Given the description of an element on the screen output the (x, y) to click on. 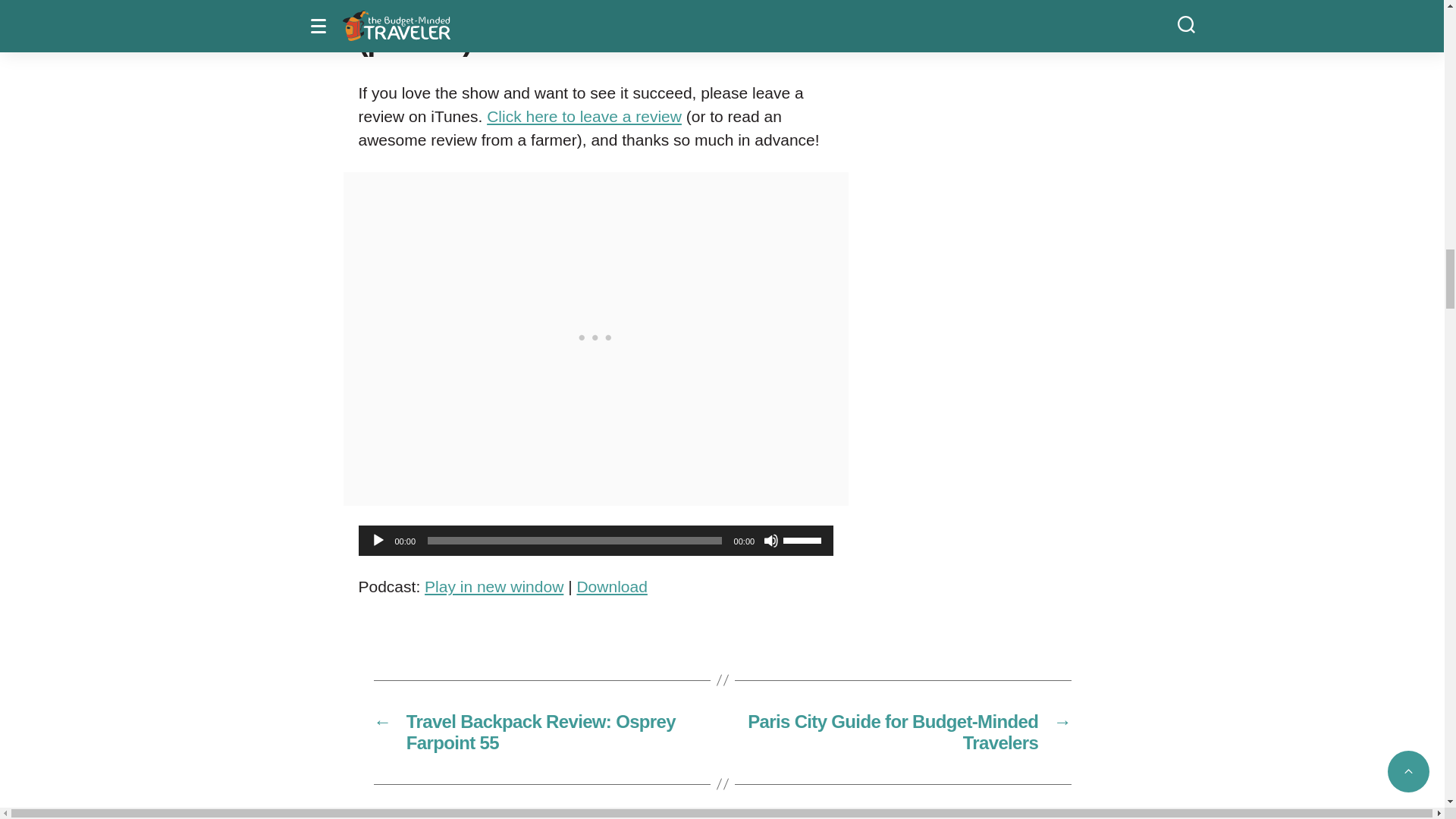
Download (611, 586)
Mute (770, 540)
Click here to leave a review (583, 116)
Play in new window (494, 586)
Download (611, 586)
Play (377, 540)
Play in new window (494, 586)
